Given the description of an element on the screen output the (x, y) to click on. 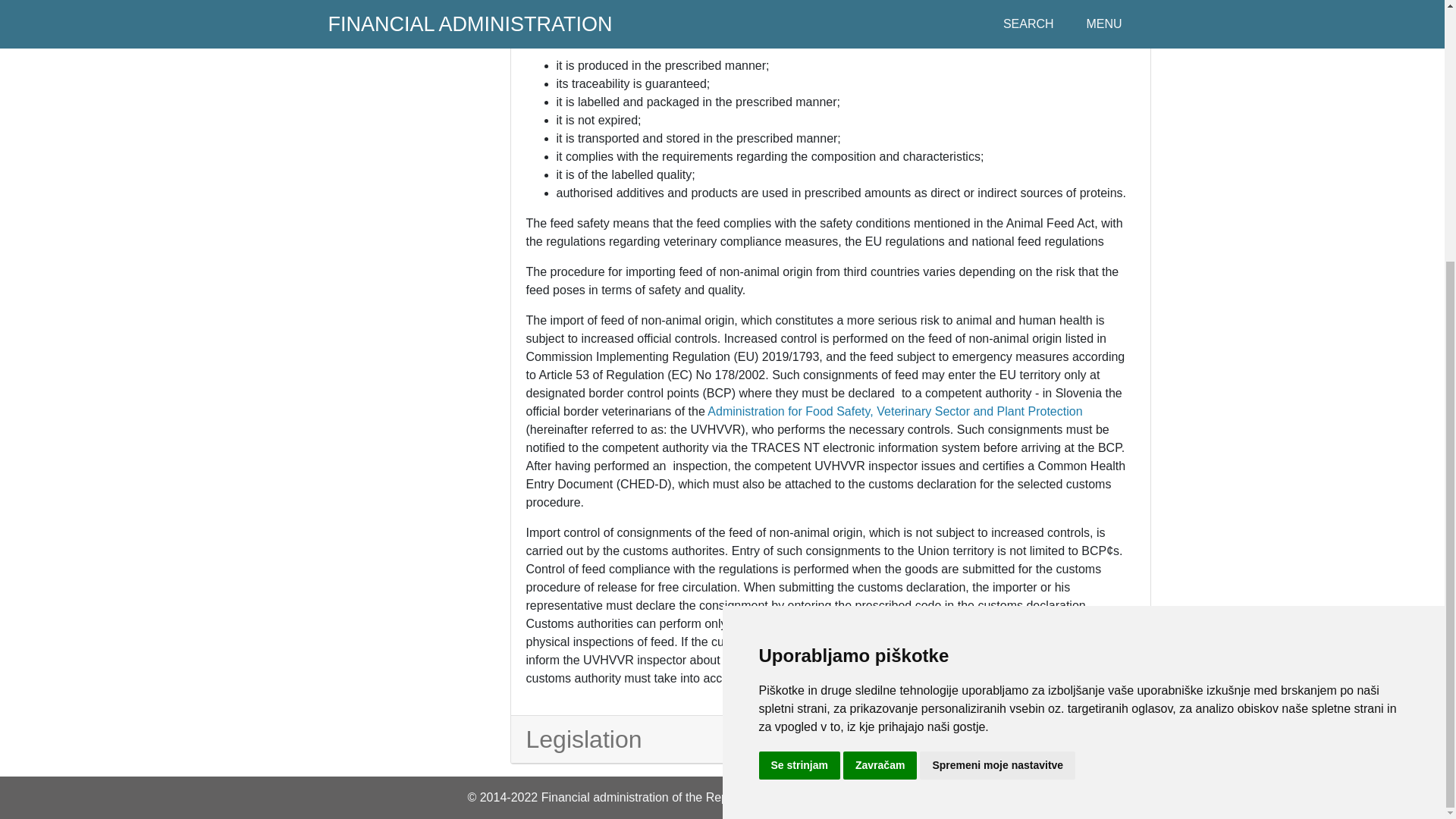
Legislation (822, 738)
Colophon content (853, 797)
Open content: Legislation (822, 738)
